Given the description of an element on the screen output the (x, y) to click on. 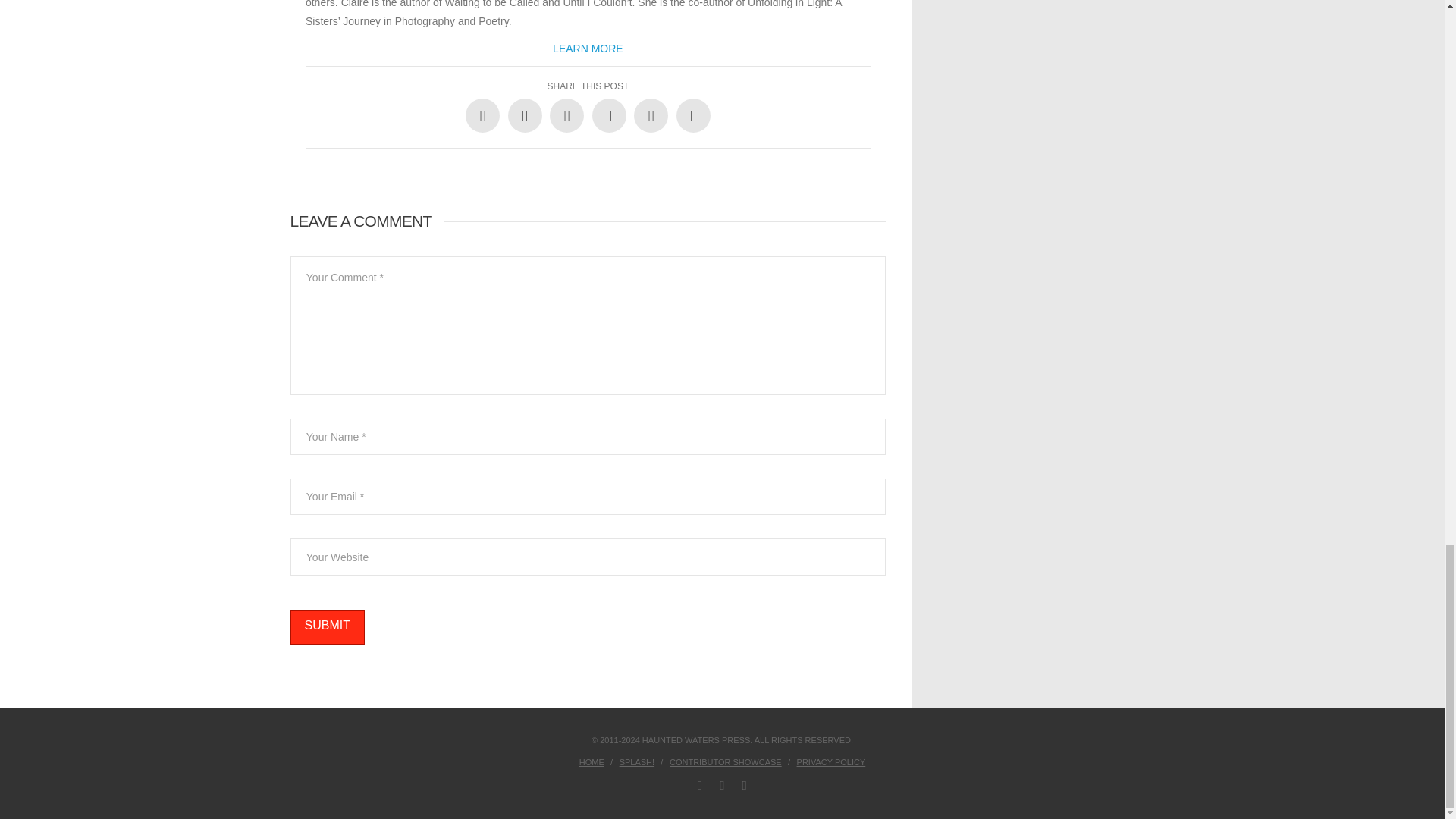
Share on LinkedIn (566, 115)
Share on X (524, 115)
Share via Email (693, 115)
CONTRIBUTOR SHOWCASE (725, 761)
Share on Pinterest (609, 115)
Submit (326, 627)
Submit (326, 627)
LEARN MORE (588, 48)
Share on Facebook (482, 115)
Share on Reddit (650, 115)
